Given the description of an element on the screen output the (x, y) to click on. 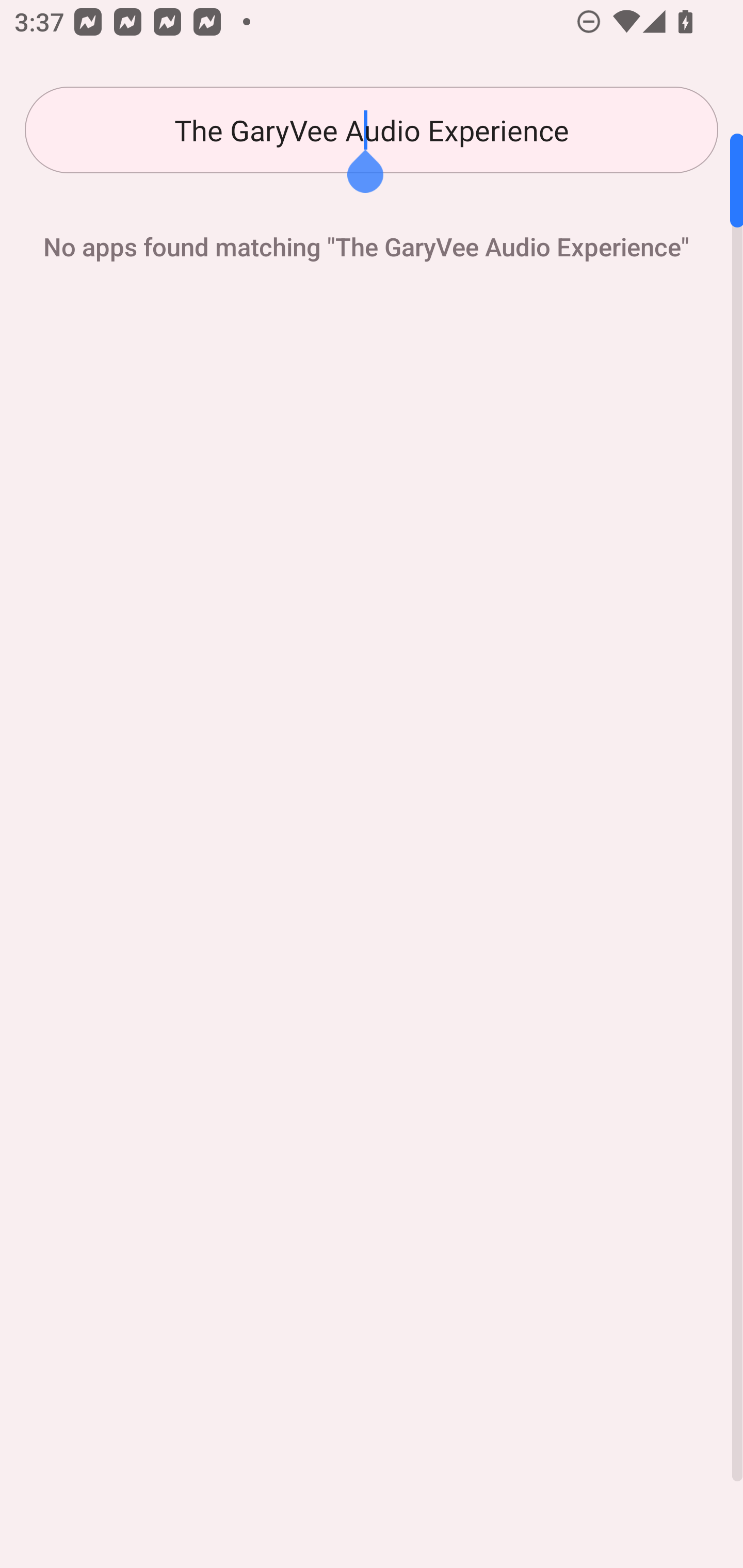
The GaryVee Audio Experience (371, 130)
